Given the description of an element on the screen output the (x, y) to click on. 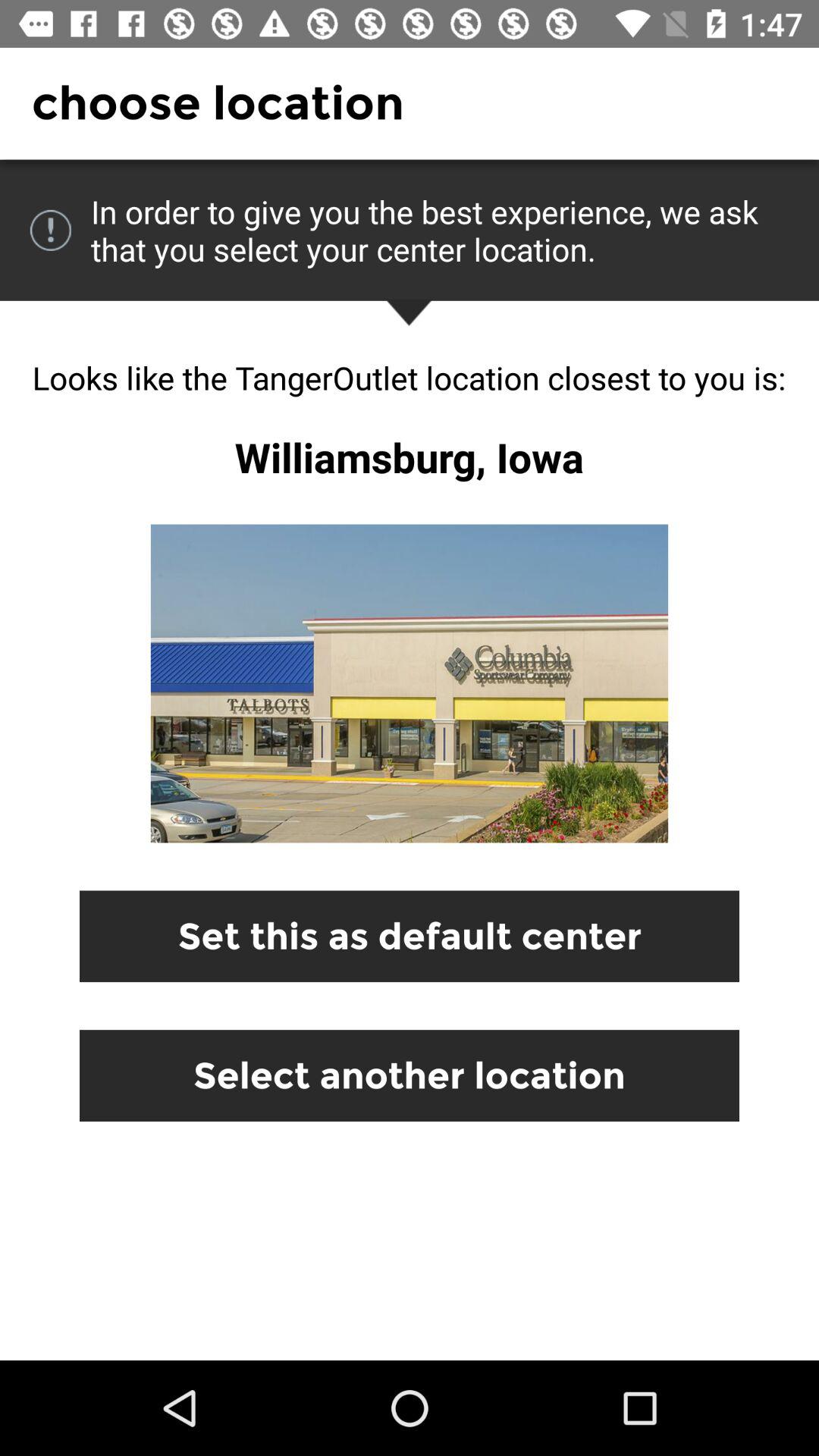
open icon above select another location icon (409, 936)
